Given the description of an element on the screen output the (x, y) to click on. 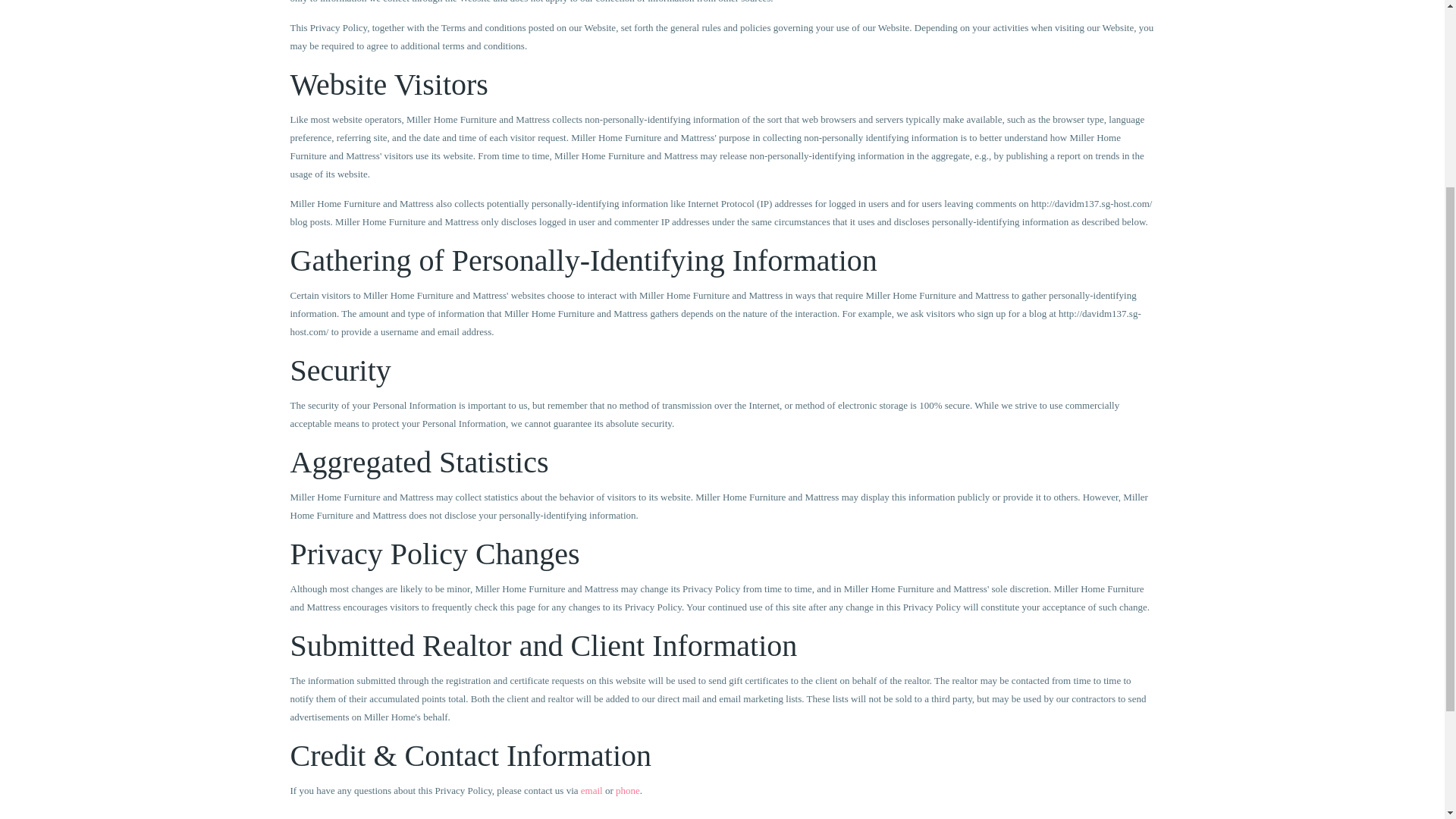
email (591, 790)
phone (627, 790)
